Given the description of an element on the screen output the (x, y) to click on. 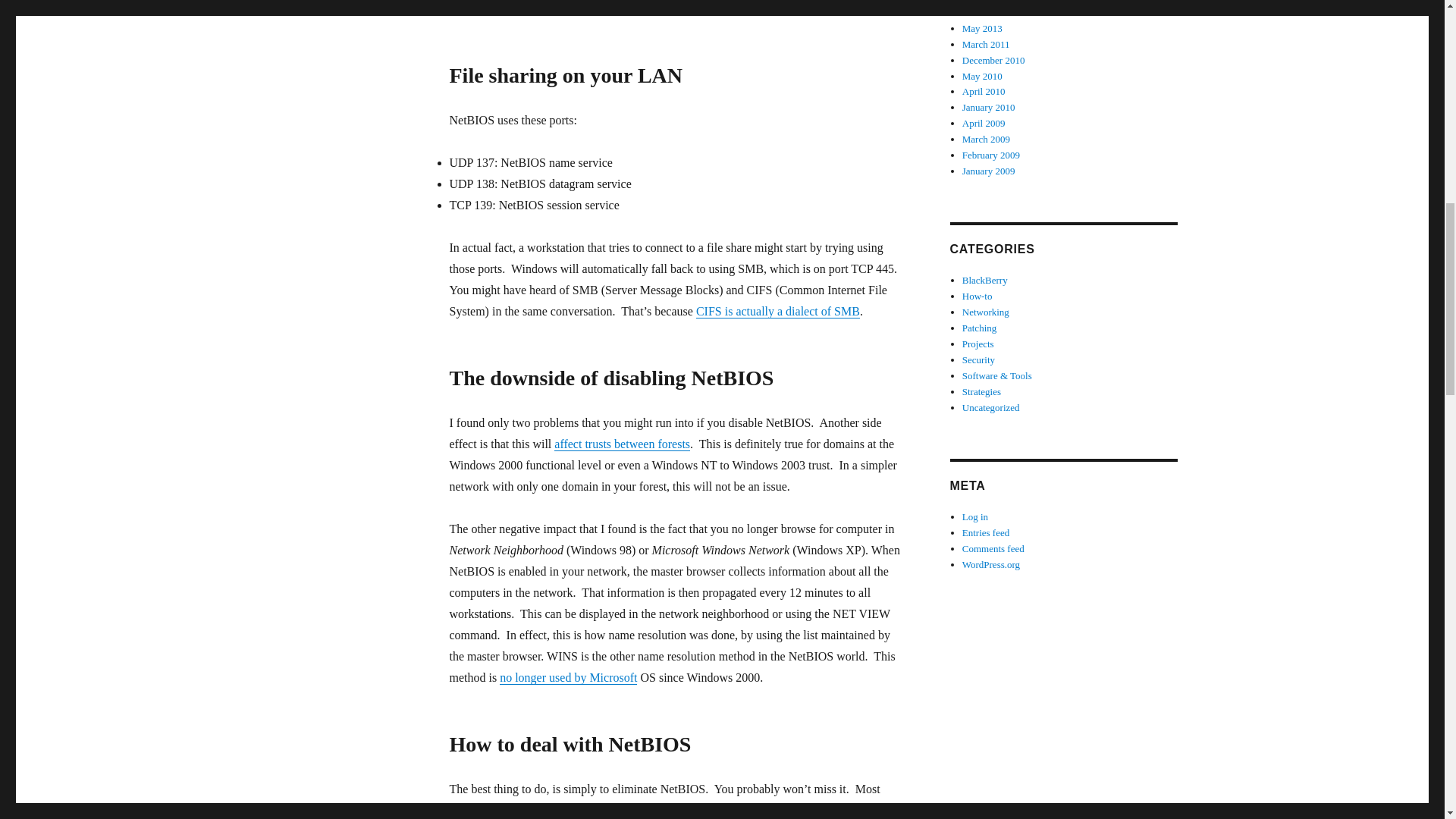
May 2013 (982, 28)
no longer used by Microsoft (568, 676)
Post about how to do something. (977, 296)
Post about computer security strategies and best practices. (981, 391)
Description of the Microsoft Computer Browser Service (568, 676)
CIFS is actually a dialect of SMB (777, 310)
Posts related to projects I am working on. (978, 343)
That is actually not the case (655, 7)
affect trusts between forests (622, 443)
Network related posts (985, 311)
